Given the description of an element on the screen output the (x, y) to click on. 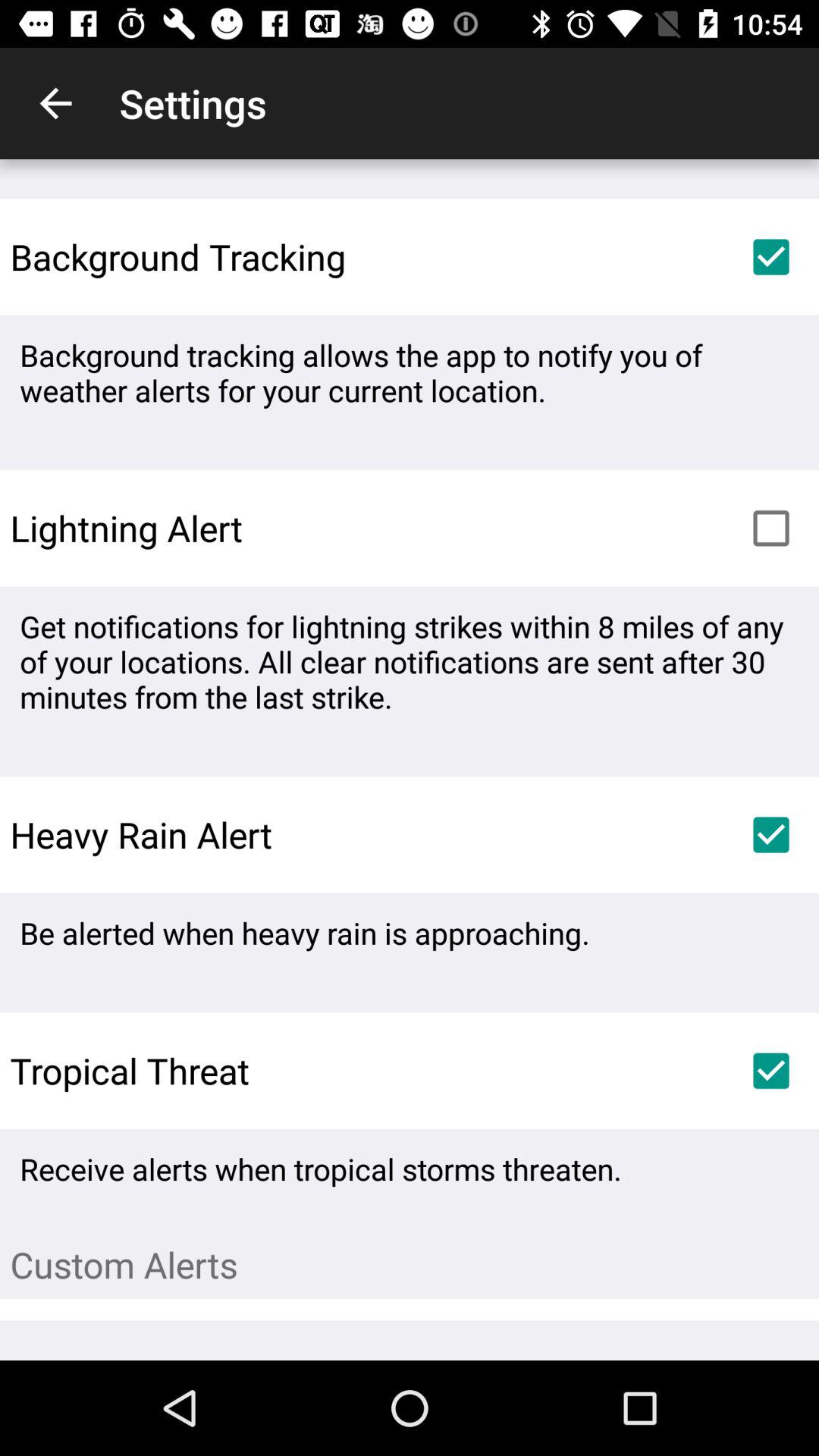
launch item below the get notifications for item (771, 834)
